Given the description of an element on the screen output the (x, y) to click on. 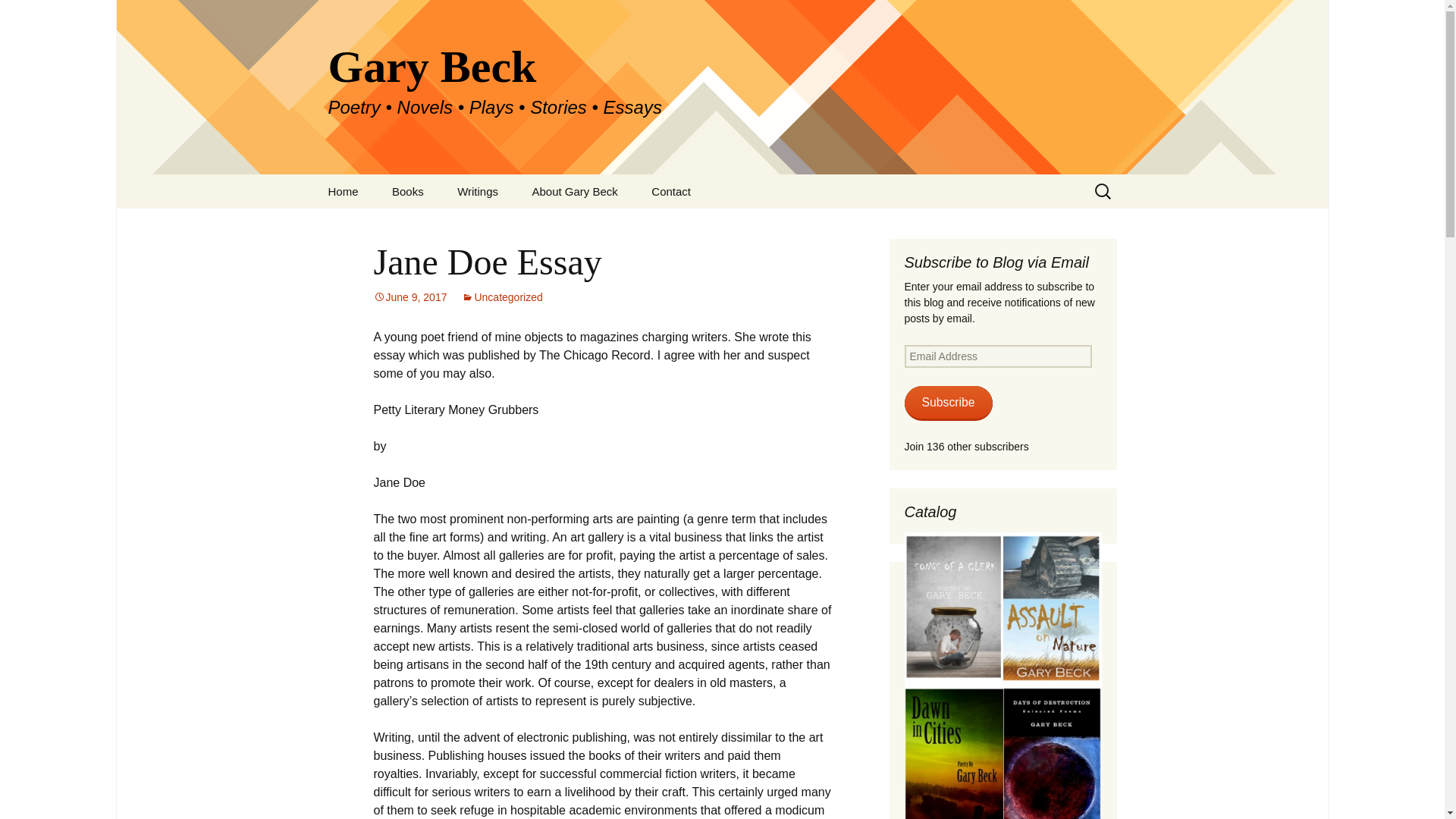
Home (342, 191)
Uncategorized (501, 297)
Contact (671, 191)
A Glimpse of Youth (452, 225)
About Gary Beck (573, 191)
Permalink to Jane Doe Essay (409, 297)
Search (18, 15)
June 9, 2017 (409, 297)
Writings (477, 191)
Books (408, 191)
Poetry (518, 225)
